Given the description of an element on the screen output the (x, y) to click on. 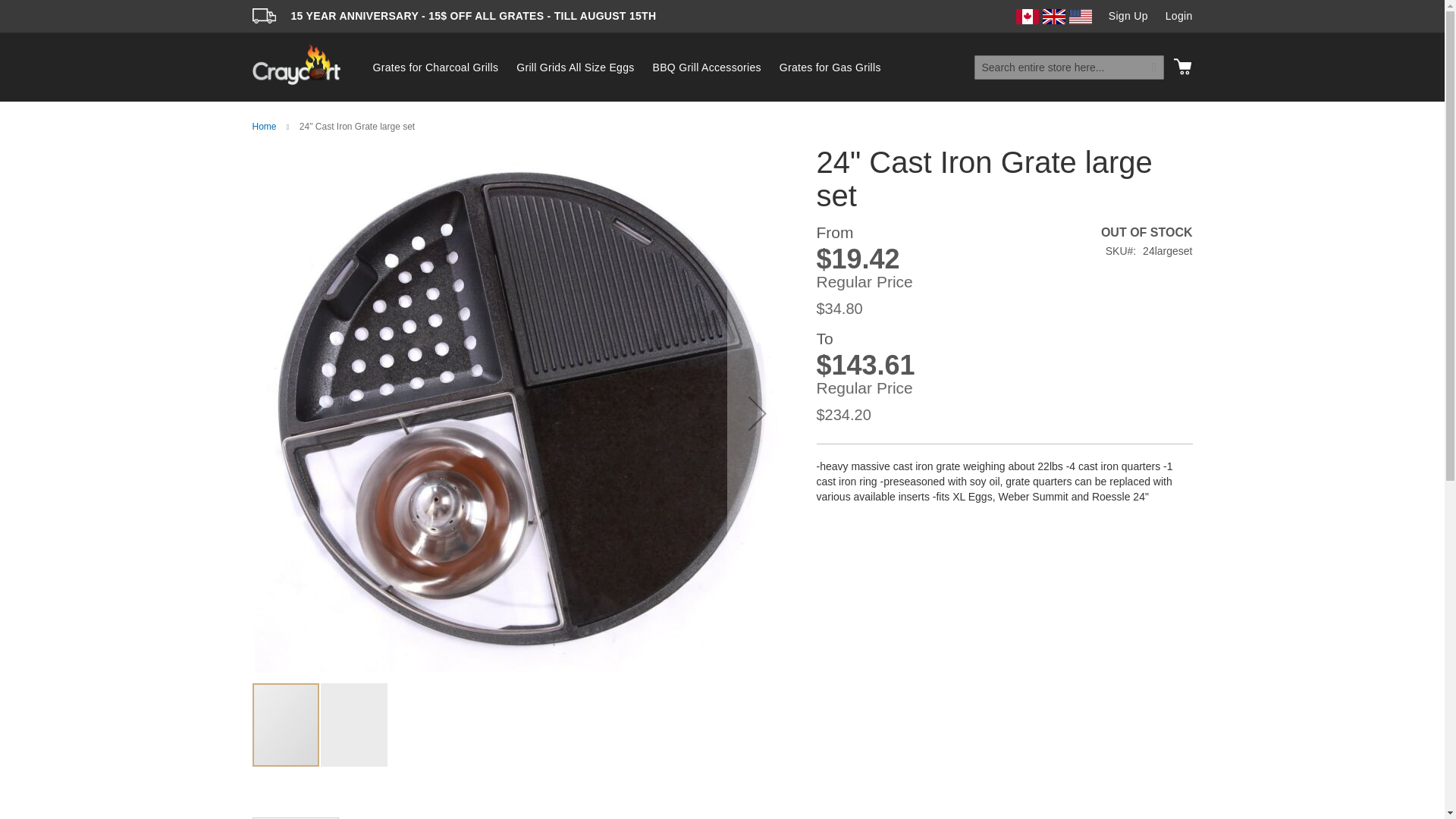
Sign Up (1128, 16)
BBQ Grill Accessories (706, 67)
Login (1179, 16)
Grill Grids All Size Eggs (574, 67)
Grates for Charcoal Grills (436, 67)
Go to Home Page (263, 126)
My Cart (1182, 66)
Craycort Cast Iron Grates (295, 64)
Availability: (1072, 232)
Grates for Gas Grills (829, 67)
